Given the description of an element on the screen output the (x, y) to click on. 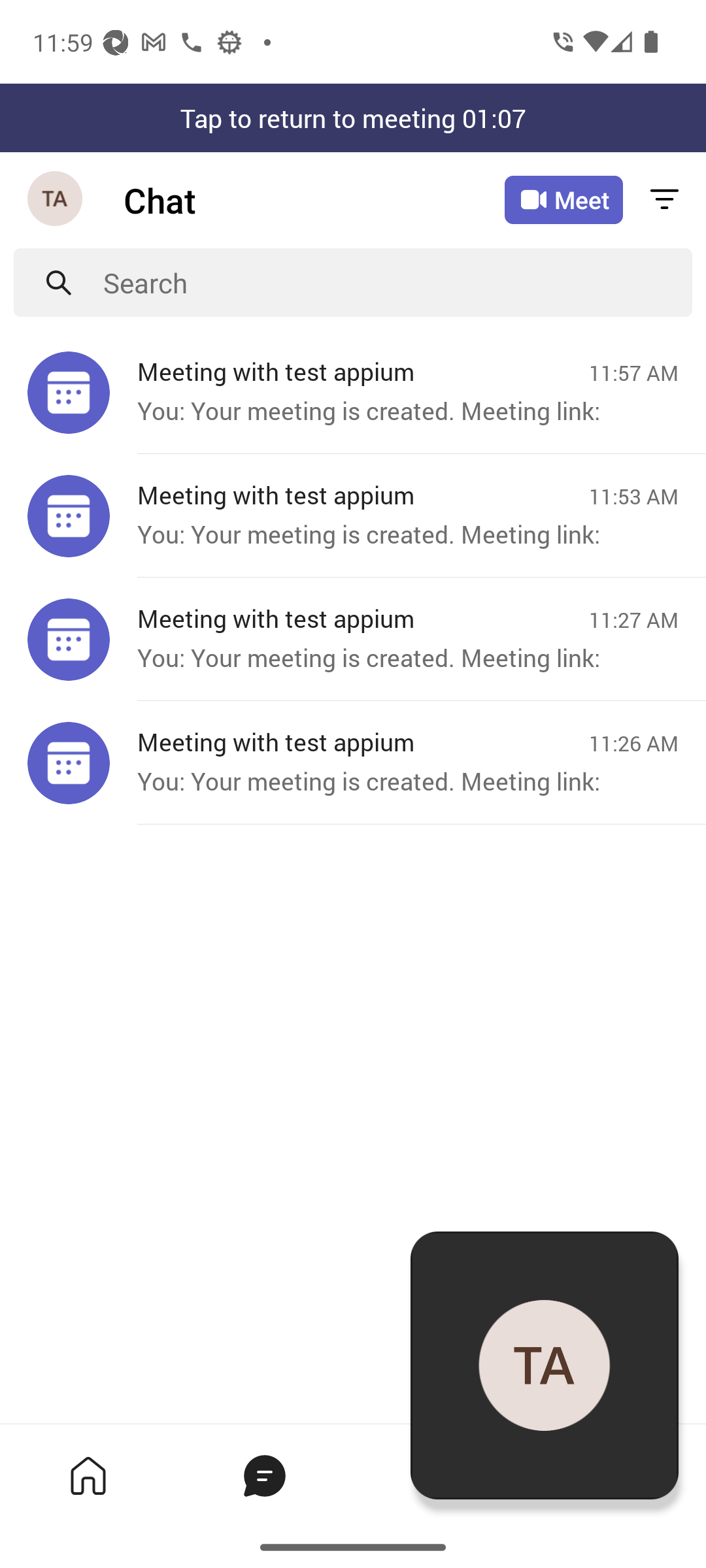
Tap to return to meeting 01:07 (353, 117)
Filter chat messages (664, 199)
Navigation (56, 199)
Meet Meet now or join with an ID (563, 199)
Search (397, 281)
Home tab,1 of 4, not selected (88, 1475)
Chat tab, 2 of 4 (264, 1475)
